Given the description of an element on the screen output the (x, y) to click on. 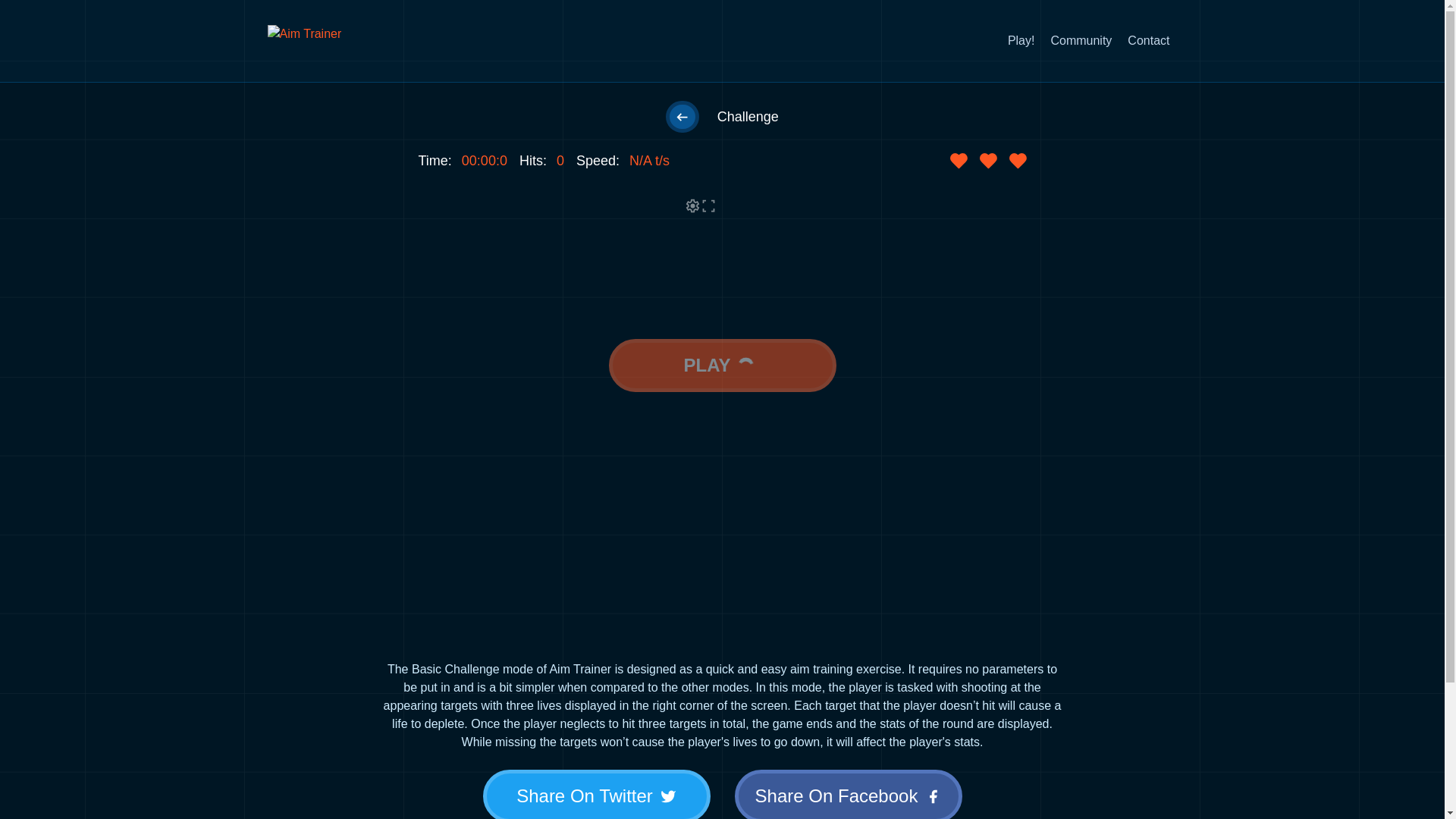
PLAY (721, 365)
Share On Twitter (595, 794)
Play! (1021, 40)
Community (1080, 40)
Share On Facebook (846, 794)
Contact (1147, 40)
